Given the description of an element on the screen output the (x, y) to click on. 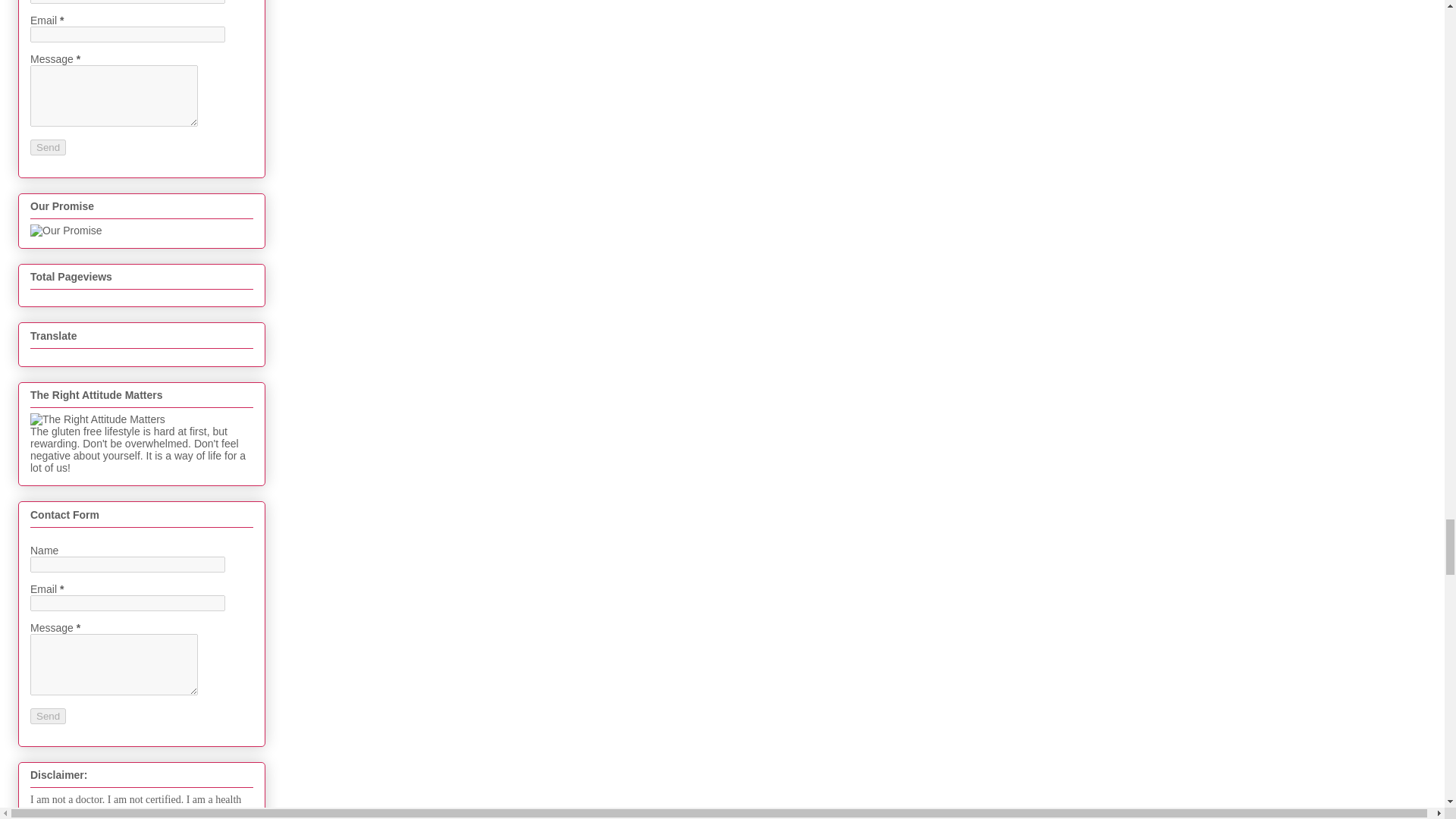
Send (47, 147)
Send (47, 715)
